Given the description of an element on the screen output the (x, y) to click on. 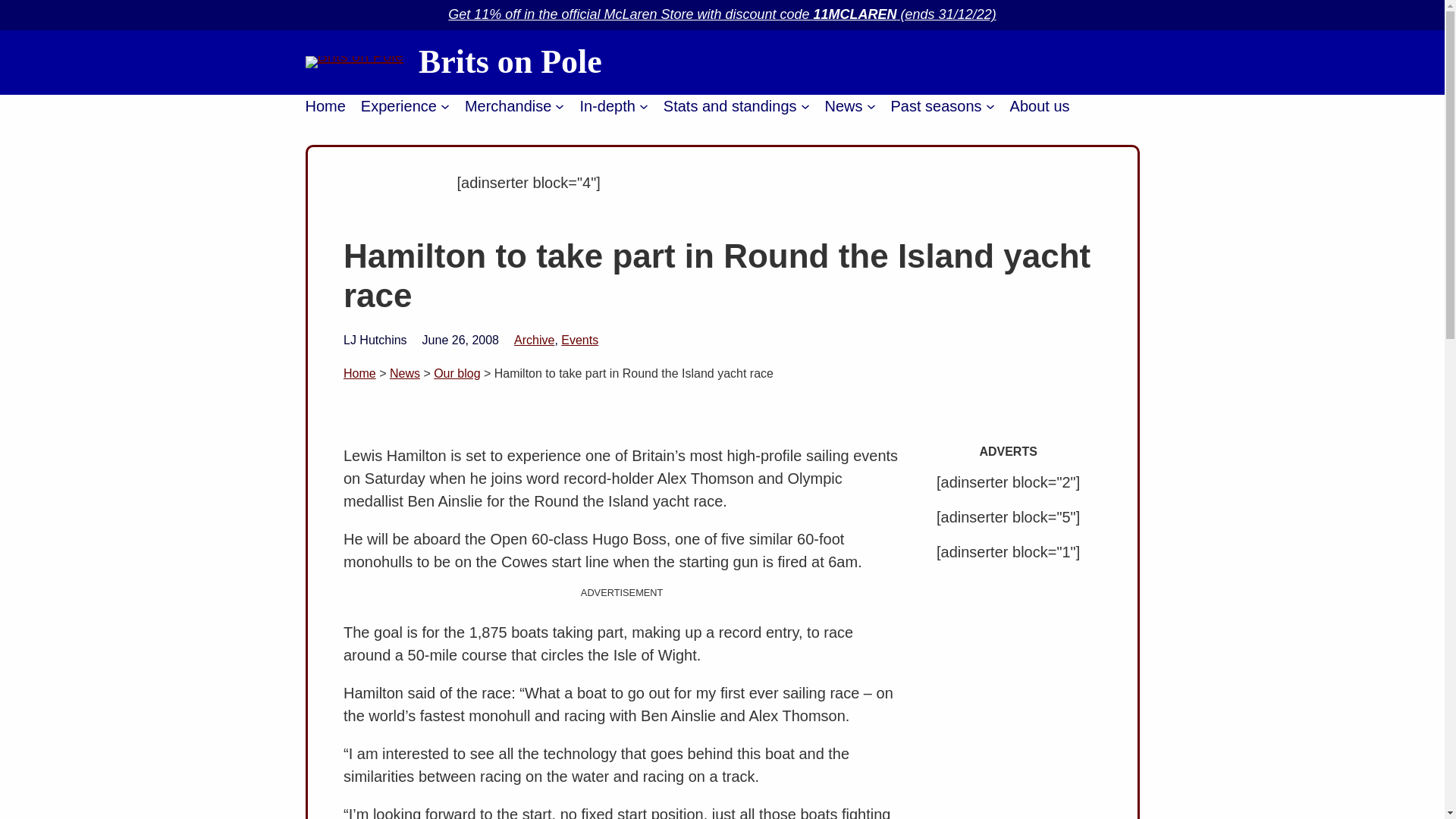
Go to News. (405, 373)
Go to Brits on Pole. (359, 373)
Experience (398, 106)
Merchandise (507, 106)
Home (324, 106)
Go to Our blog. (456, 373)
Brits on Pole (510, 61)
In-depth (606, 106)
